Given the description of an element on the screen output the (x, y) to click on. 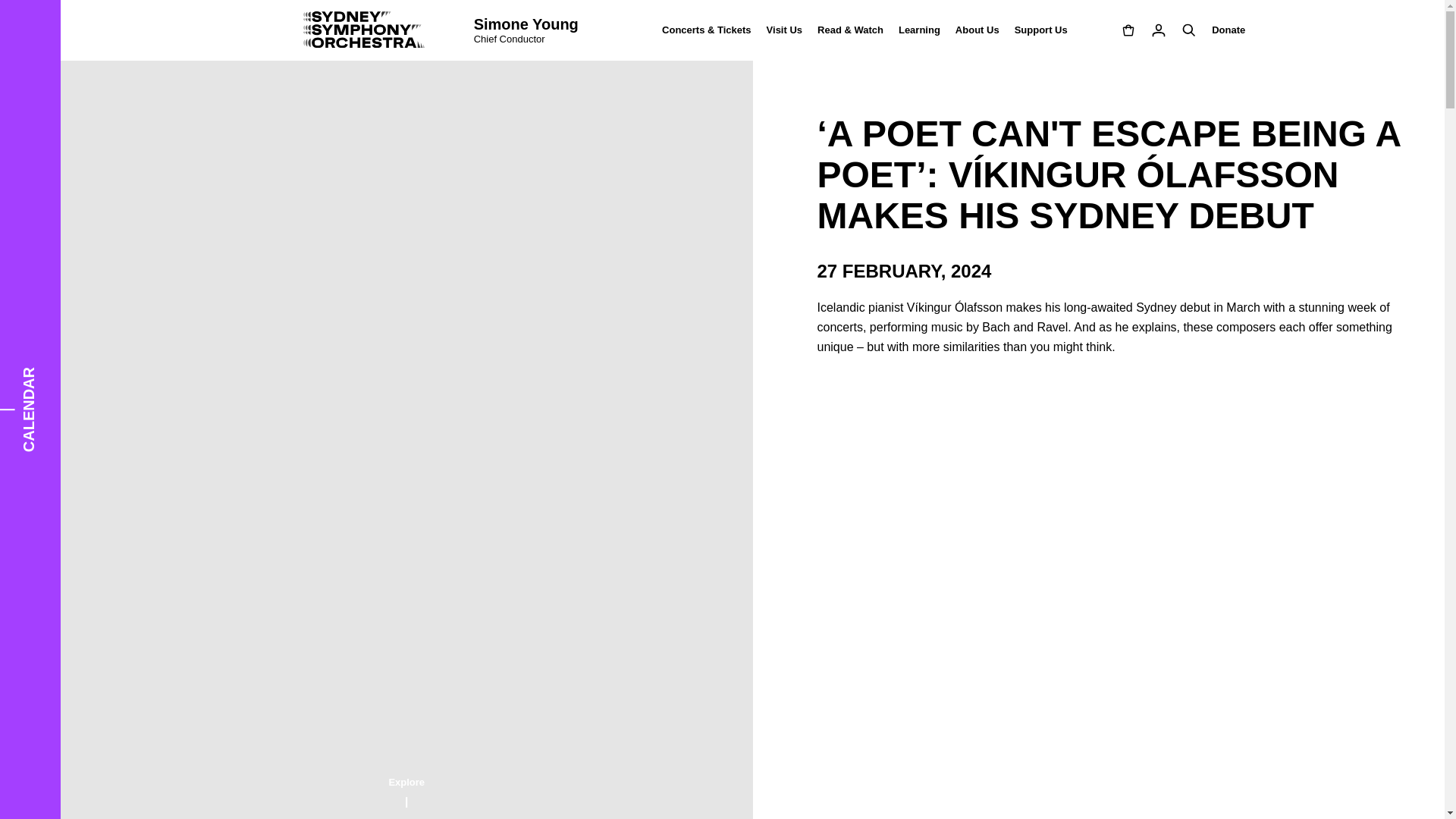
Support Us (1037, 30)
About Us (977, 30)
Explore (406, 790)
Learning (919, 30)
